Given the description of an element on the screen output the (x, y) to click on. 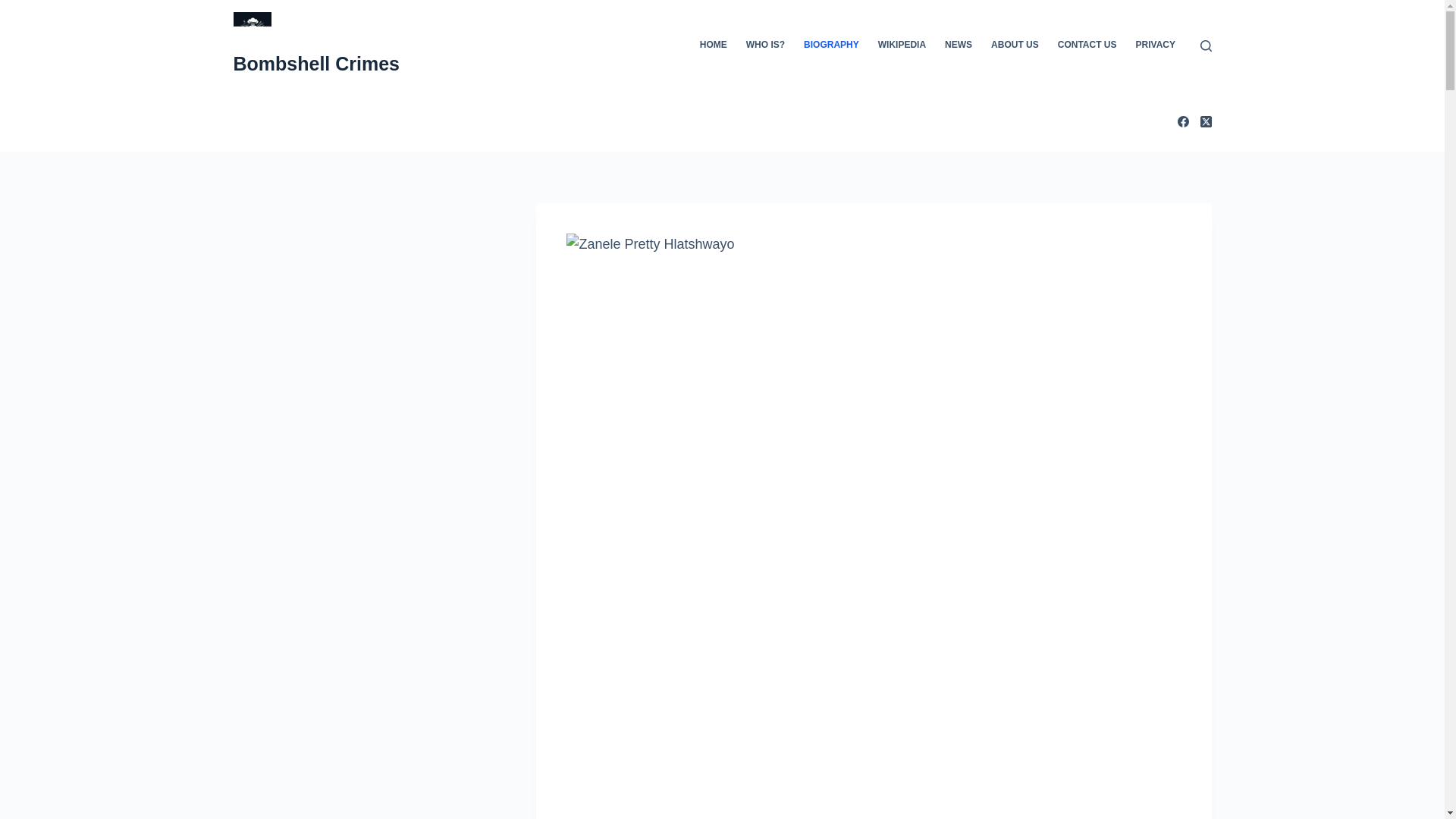
Skip to content (15, 7)
Bombshell Crimes (316, 63)
